Given the description of an element on the screen output the (x, y) to click on. 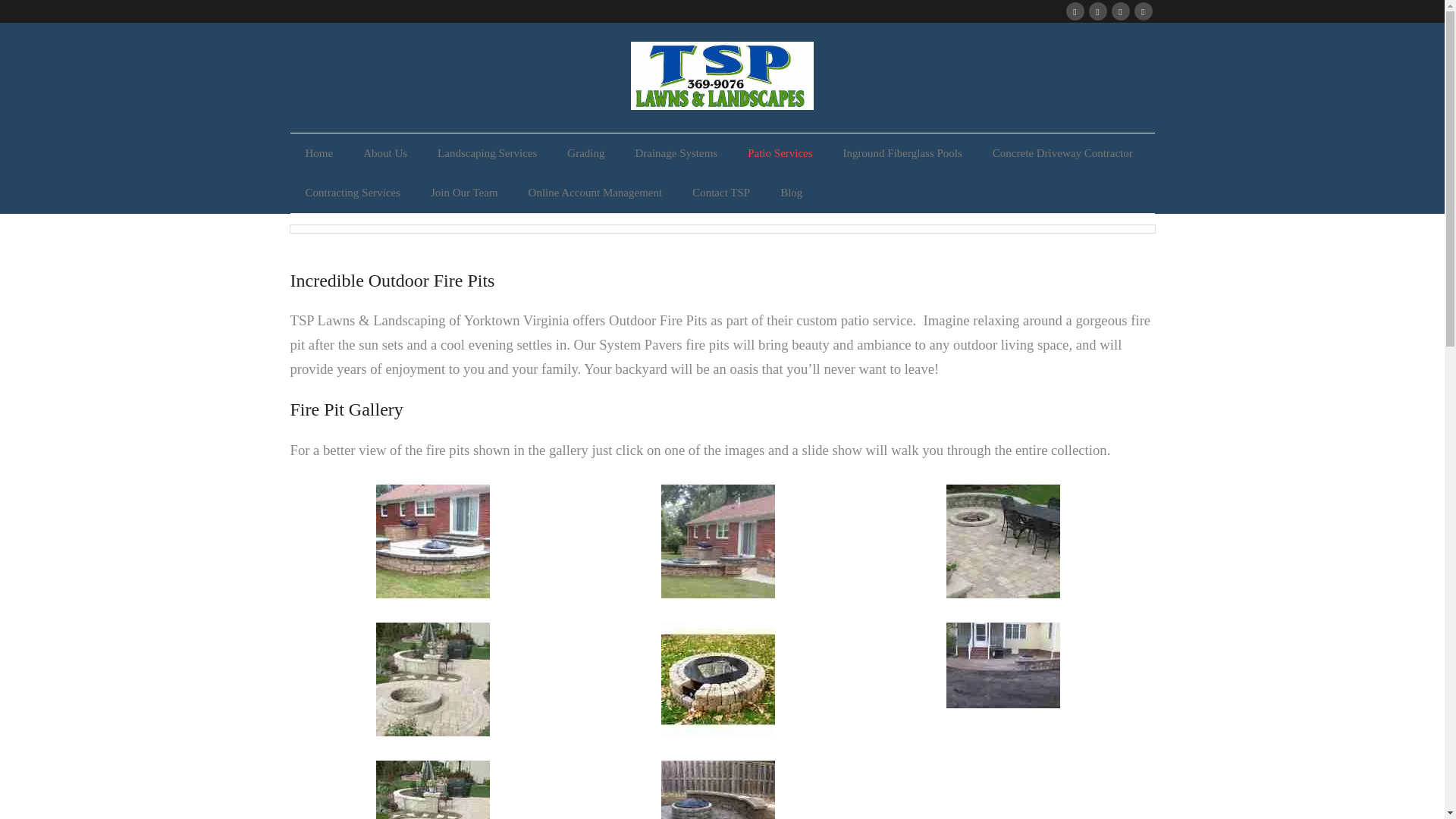
Patio Services (779, 153)
Home (318, 153)
Inground Fiberglass Pools (902, 153)
Landscaping Services (486, 153)
Grading (585, 153)
Contracting Services (351, 192)
About Us (384, 153)
Join Our Team (463, 192)
Drainage Systems (676, 153)
Concrete Driveway Contractor (1062, 153)
